Given the description of an element on the screen output the (x, y) to click on. 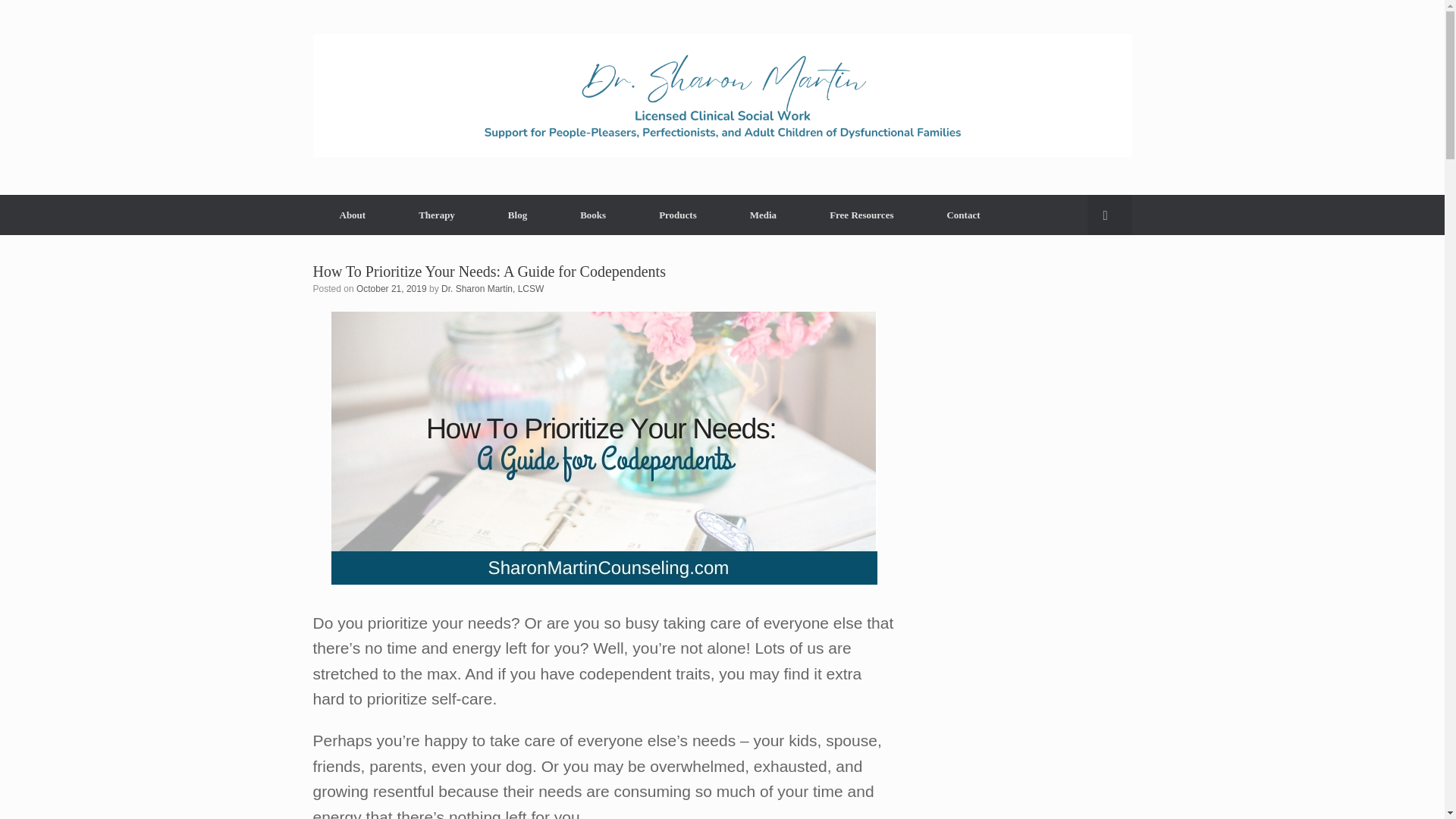
About (352, 214)
Dr. Sharon Martin logo (722, 95)
View all posts by Dr. Sharon Martin, LCSW (492, 288)
Blog (517, 214)
10:40 pm (391, 288)
Dr. Sharon Martin, LCSW (492, 288)
Contact (963, 214)
October 21, 2019 (391, 288)
Therapy (436, 214)
Media (763, 214)
